Given the description of an element on the screen output the (x, y) to click on. 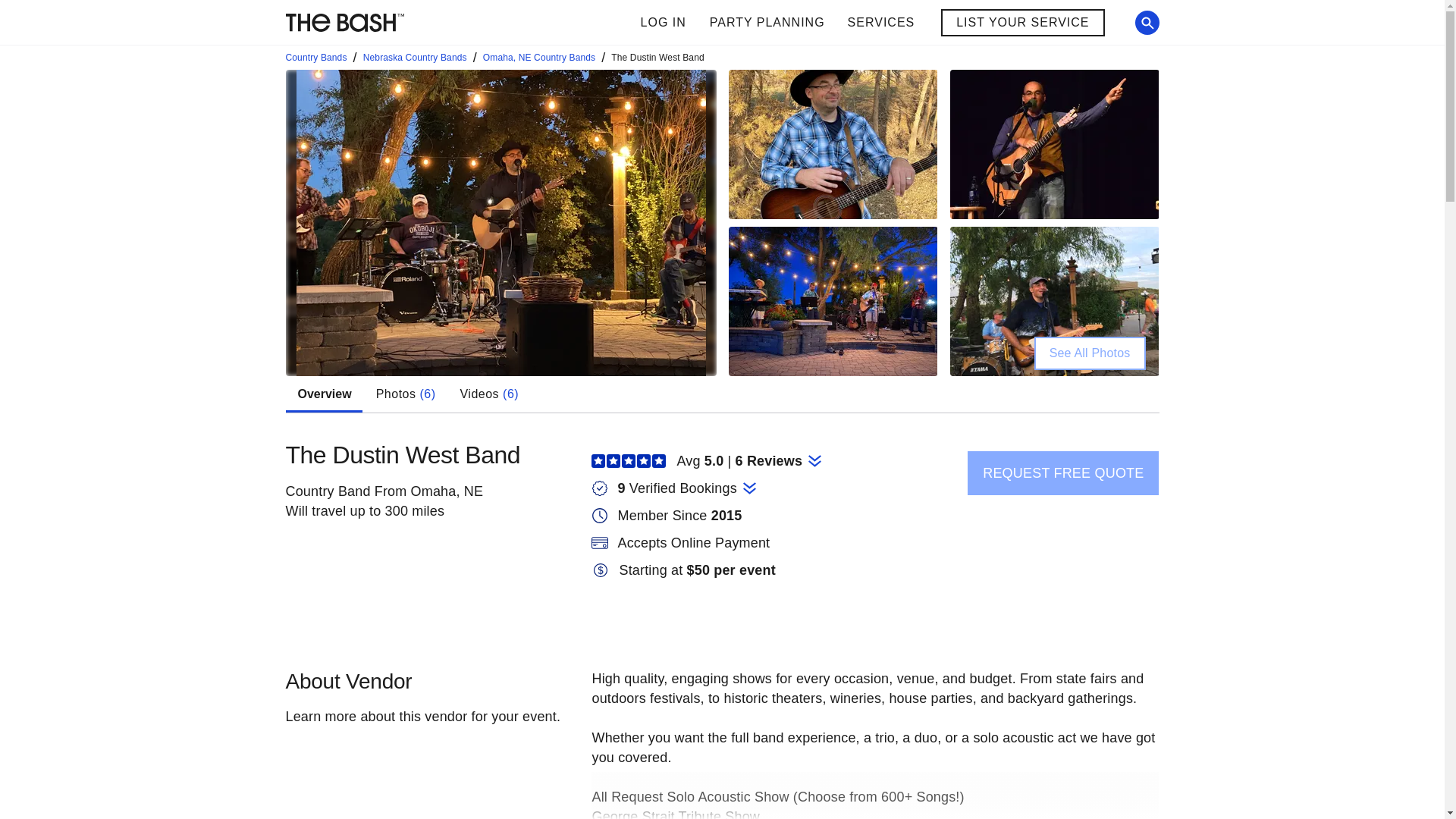
LIST YOUR SERVICE (1021, 22)
LOG IN (812, 22)
